Given the description of an element on the screen output the (x, y) to click on. 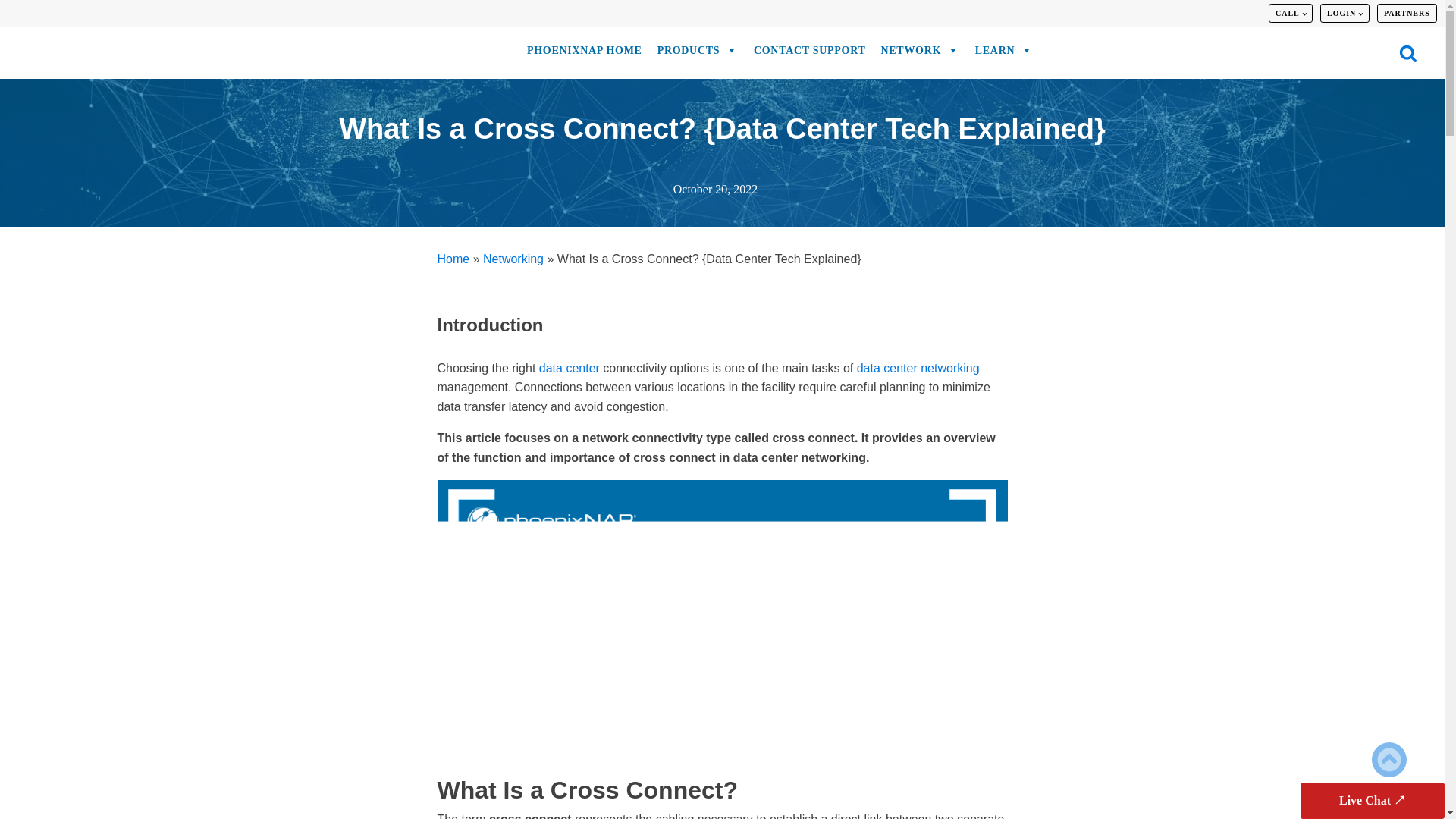
PARTNERS (1406, 13)
PHOENIXNAP HOME (584, 53)
PRODUCTS (697, 51)
LOGIN (1344, 13)
CALL (1290, 13)
